Given the description of an element on the screen output the (x, y) to click on. 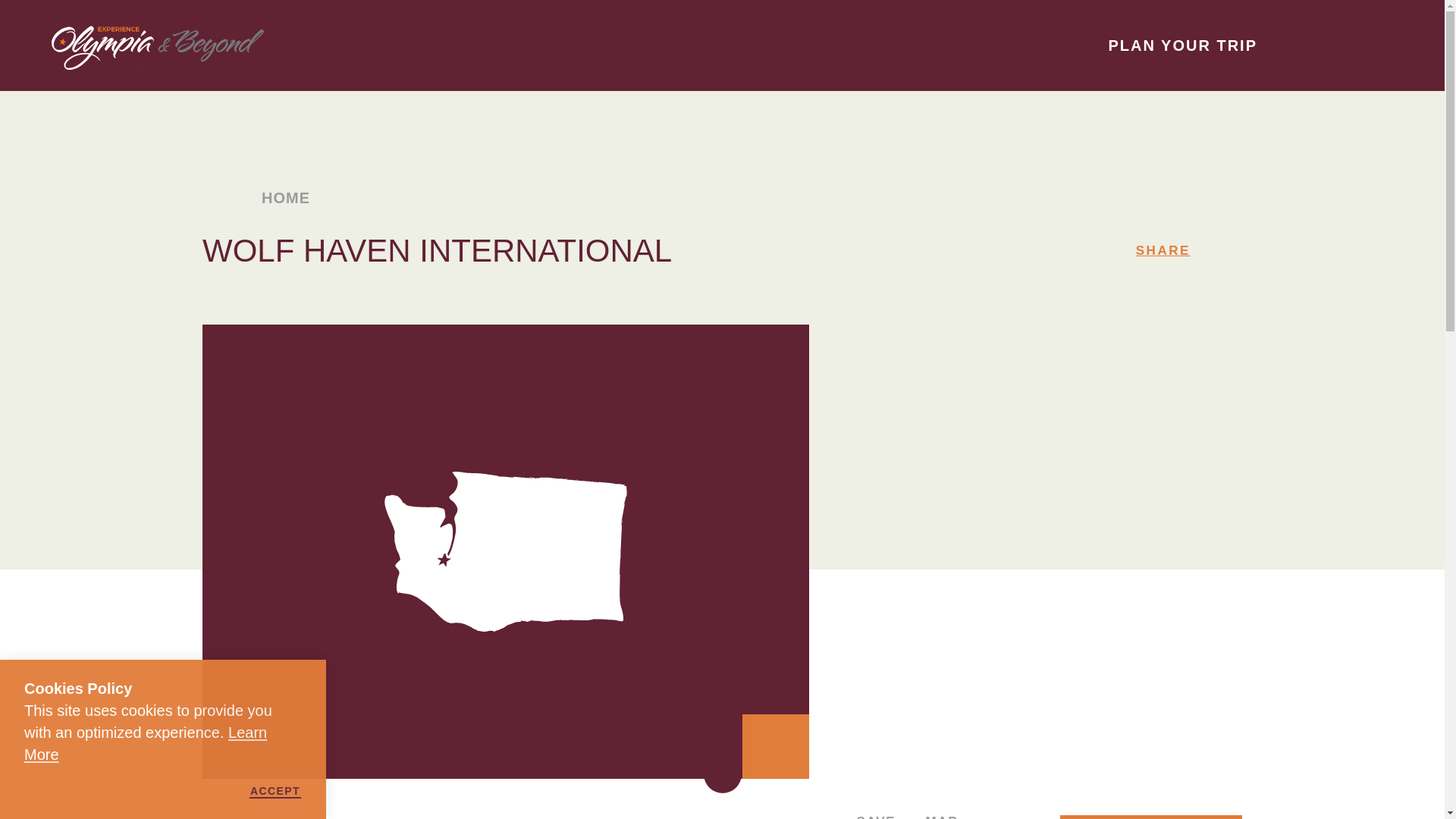
PLAN YOUR TRIP (1199, 45)
WEBSITE (1150, 816)
MAP (936, 816)
HOME (278, 197)
SAVE (868, 816)
Skip to content (17, 15)
SHARE (1163, 250)
